Given the description of an element on the screen output the (x, y) to click on. 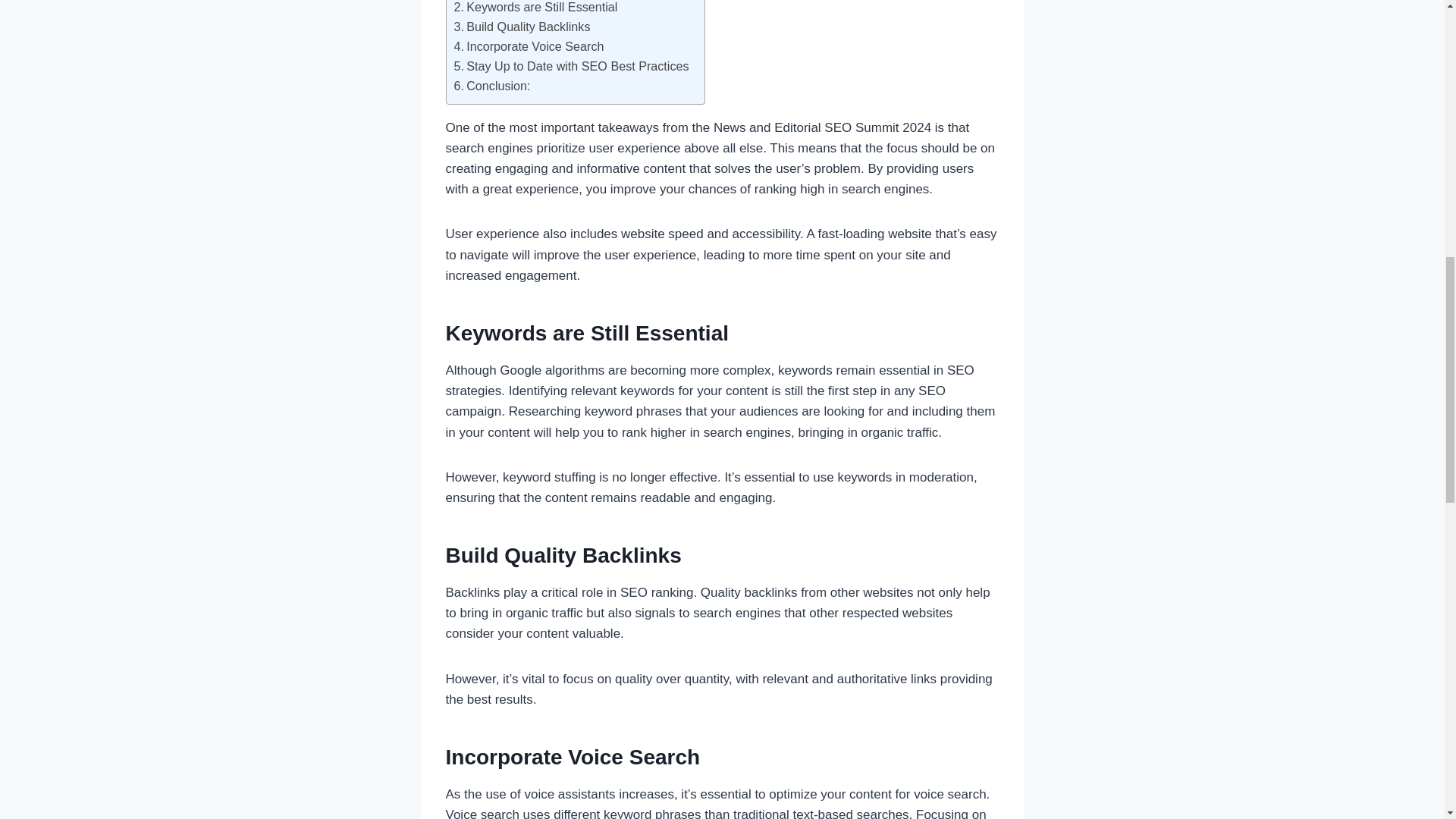
Incorporate Voice Search (528, 46)
Conclusion: (490, 86)
Build Quality Backlinks (520, 26)
Stay Up to Date with SEO Best Practices (570, 66)
Stay Up to Date with SEO Best Practices (570, 66)
Keywords are Still Essential (534, 8)
Incorporate Voice Search (528, 46)
Conclusion: (490, 86)
Keywords are Still Essential (534, 8)
Build Quality Backlinks (520, 26)
